Given the description of an element on the screen output the (x, y) to click on. 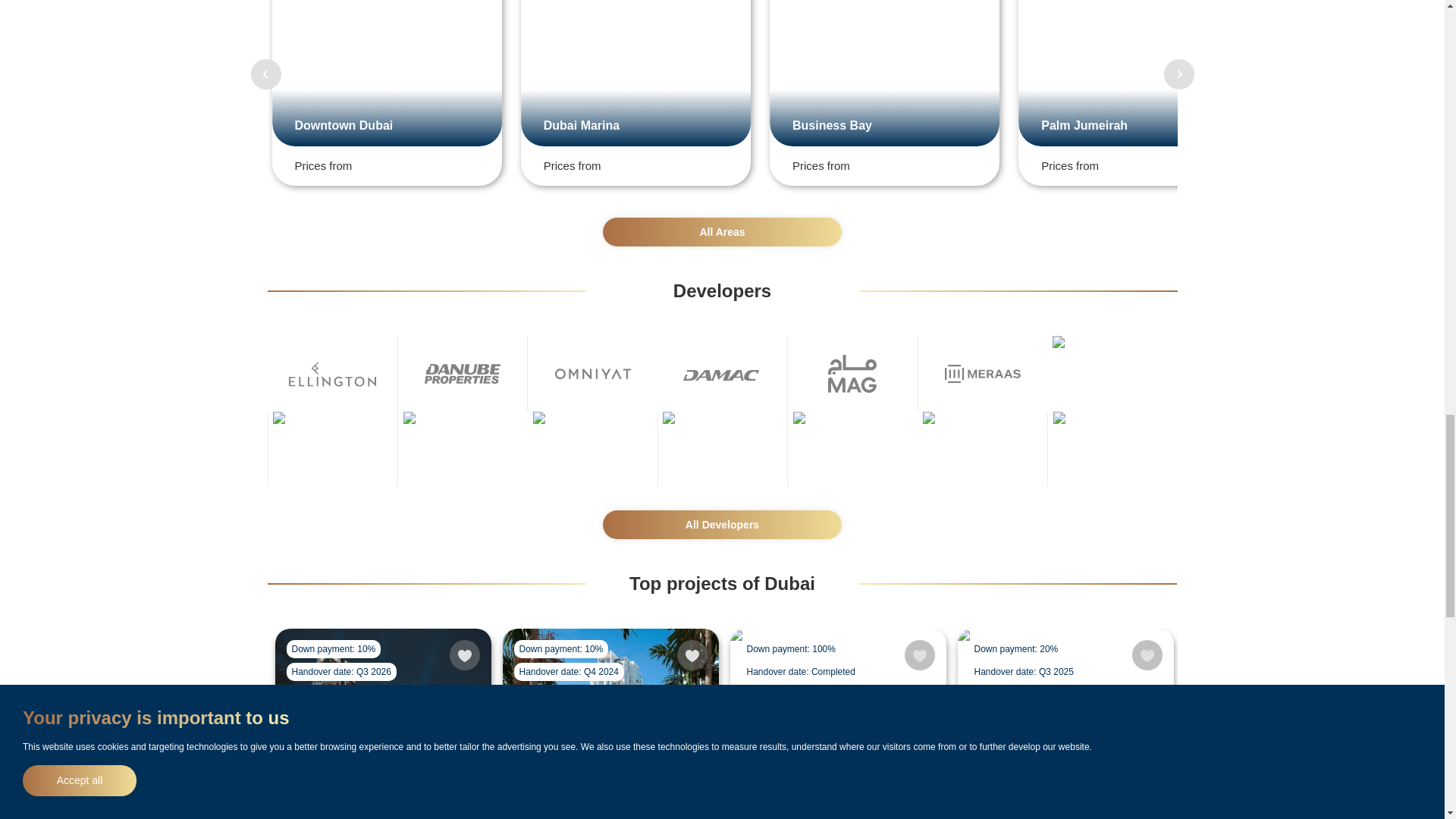
Meraas Properties image (982, 373)
DAMAC Properties image (721, 373)
Binghatti Properties image (592, 449)
Danube Properties image (462, 373)
Aldar Properties image (721, 449)
Sobha Realty image (852, 449)
Nakheel Properties image (1112, 449)
Emaar Properties image (982, 449)
Select Group image (462, 449)
Object 1 image (332, 449)
